Given the description of an element on the screen output the (x, y) to click on. 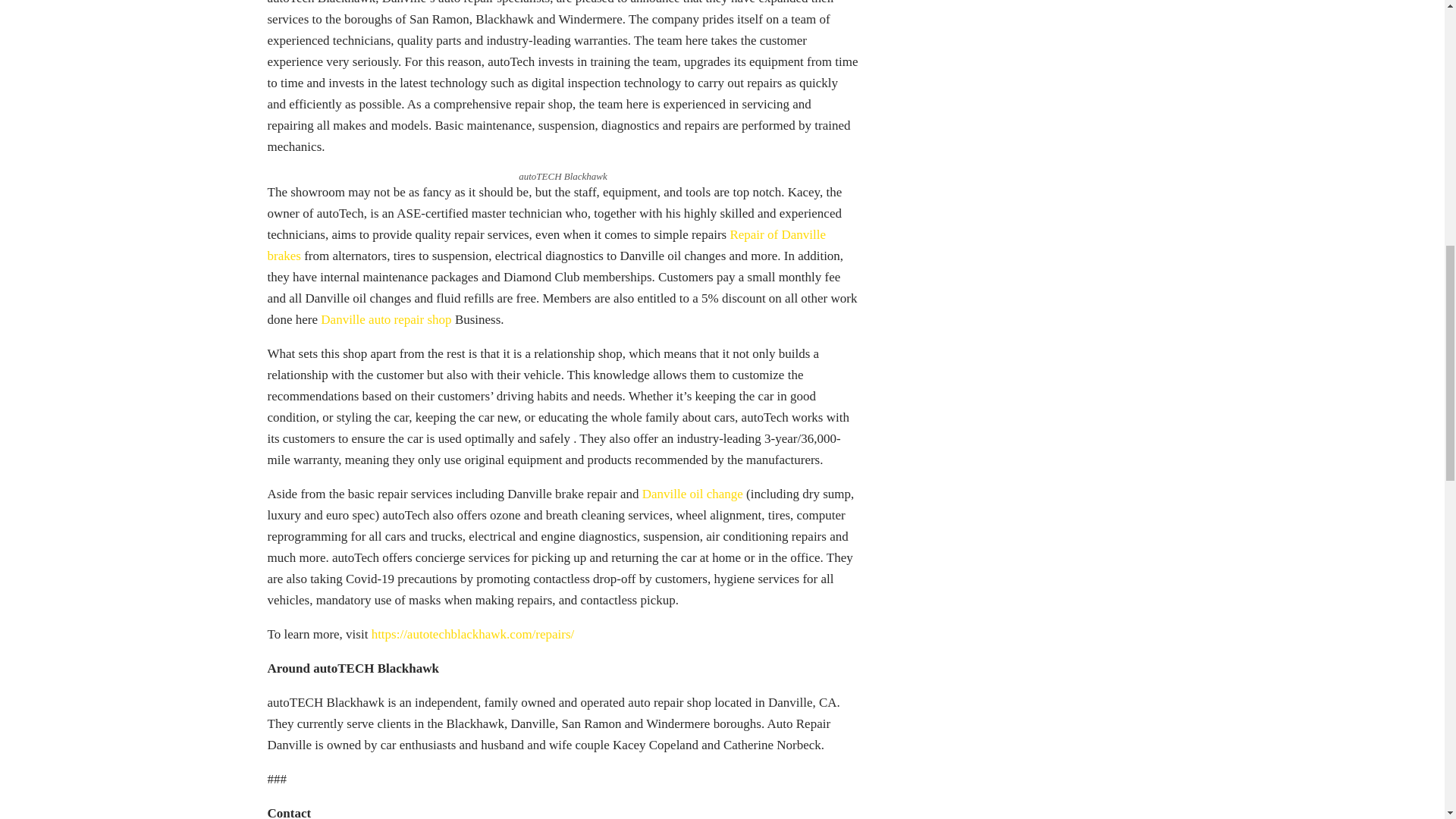
Danville auto repair shop (385, 319)
Danville oil change (692, 493)
Repair of Danville brakes (545, 244)
